Given the description of an element on the screen output the (x, y) to click on. 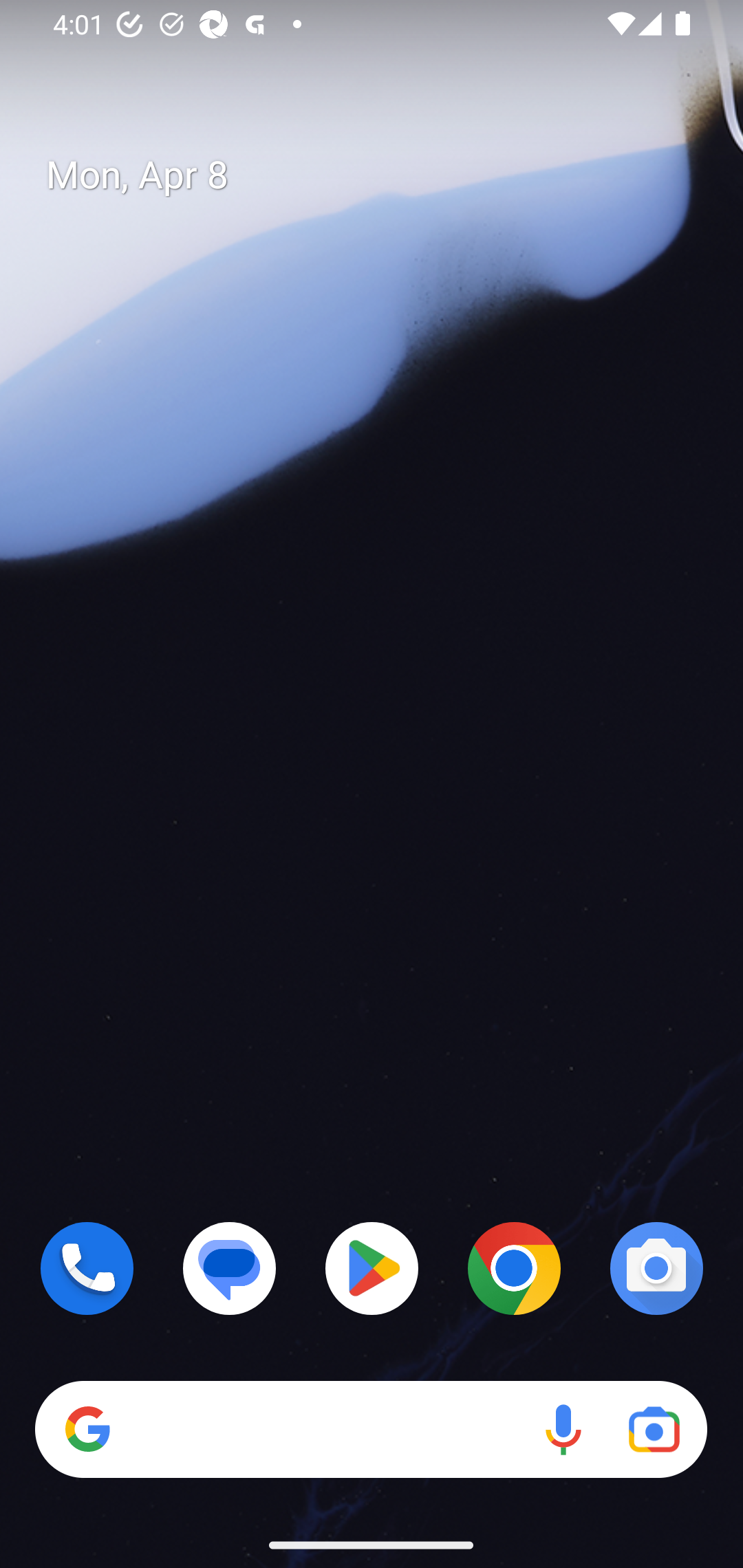
Mon, Apr 8 (386, 175)
Phone (86, 1268)
Messages (229, 1268)
Play Store (371, 1268)
Chrome (513, 1268)
Camera (656, 1268)
Search Voice search Google Lens (370, 1429)
Voice search (562, 1429)
Google Lens (653, 1429)
